Given the description of an element on the screen output the (x, y) to click on. 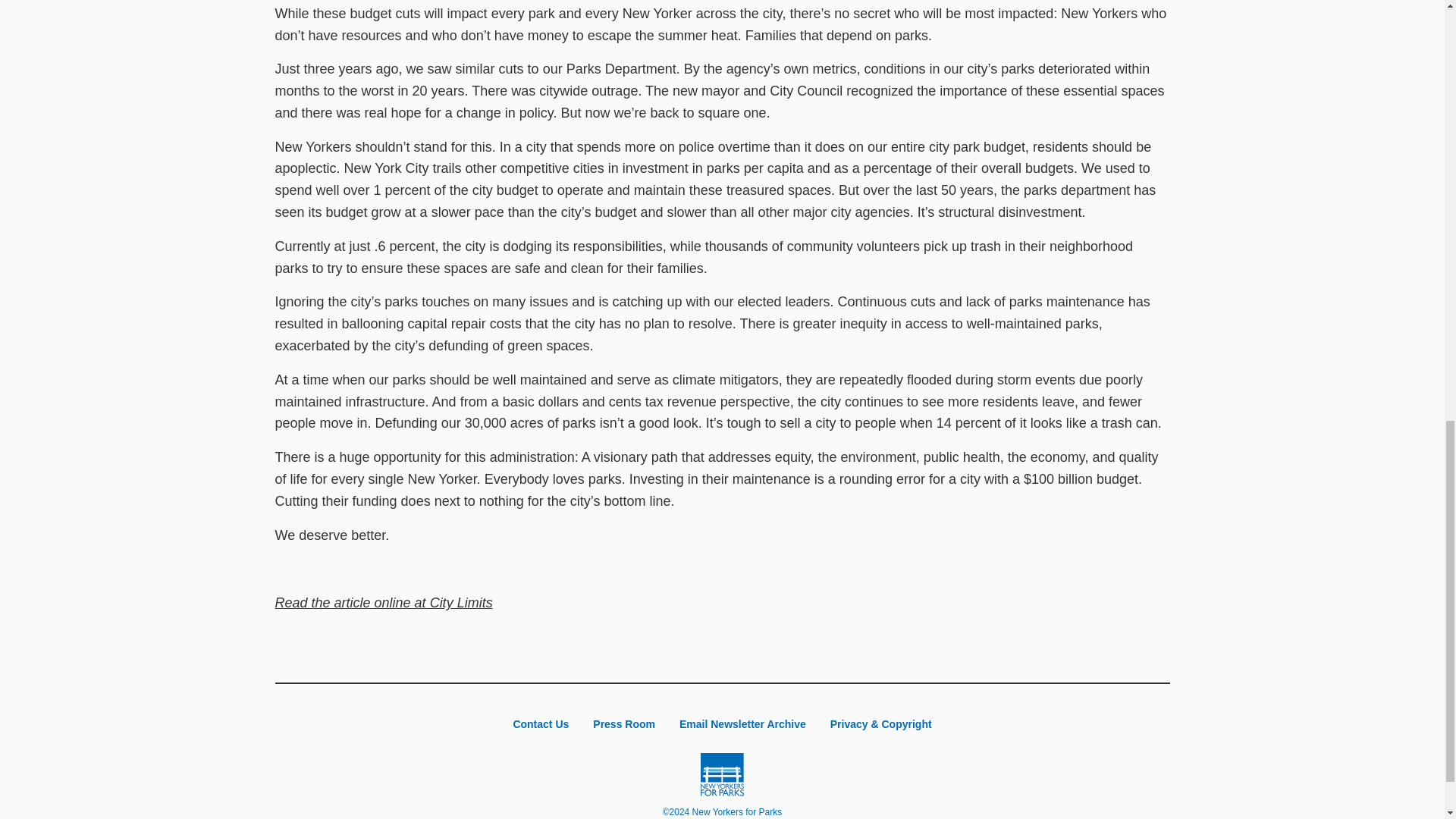
Email Newsletter Archive (742, 723)
Contact Us (540, 723)
Press Room (623, 723)
Read the article online at City Limits (383, 602)
